Given the description of an element on the screen output the (x, y) to click on. 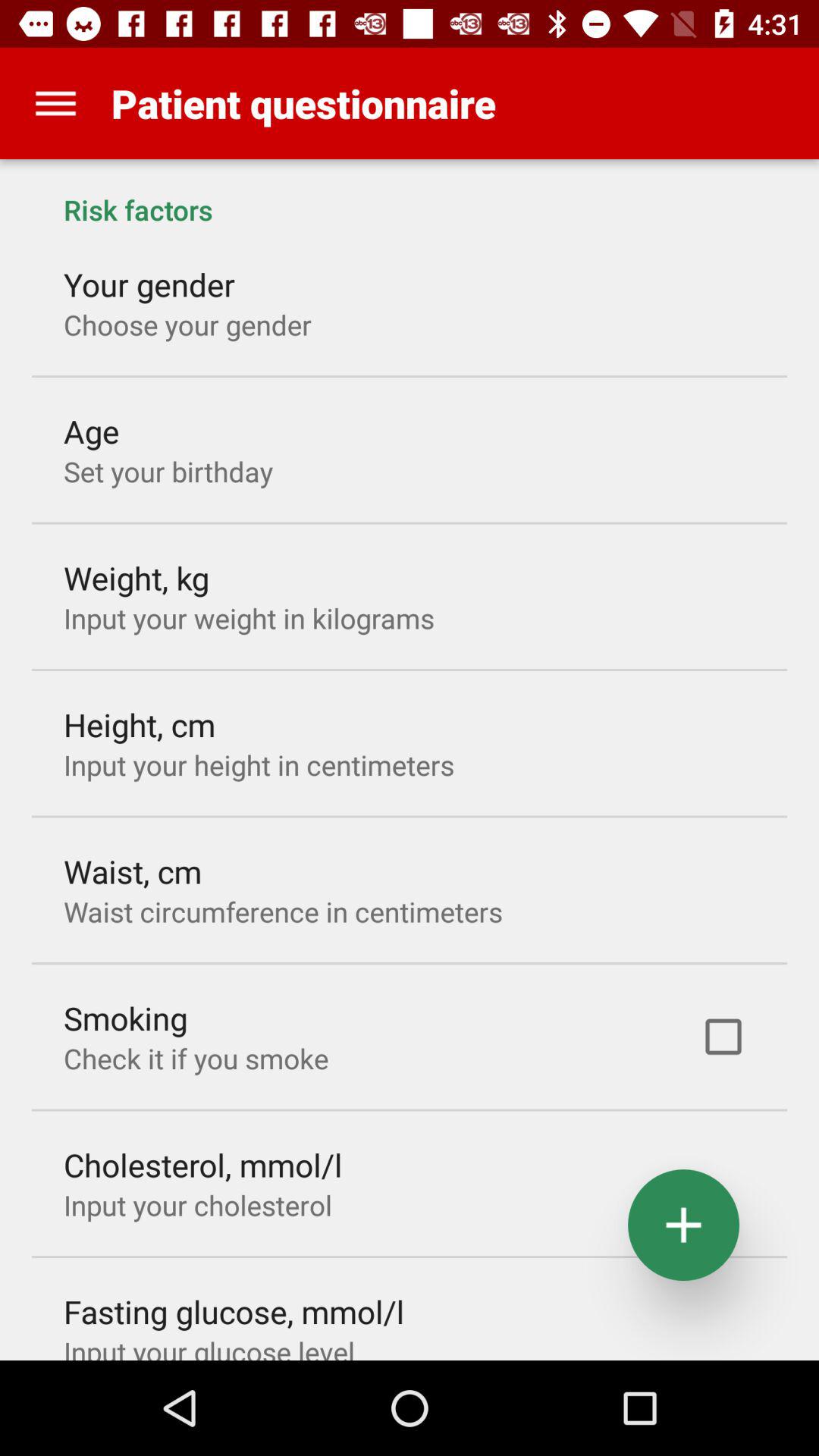
open the check it if app (195, 1058)
